Given the description of an element on the screen output the (x, y) to click on. 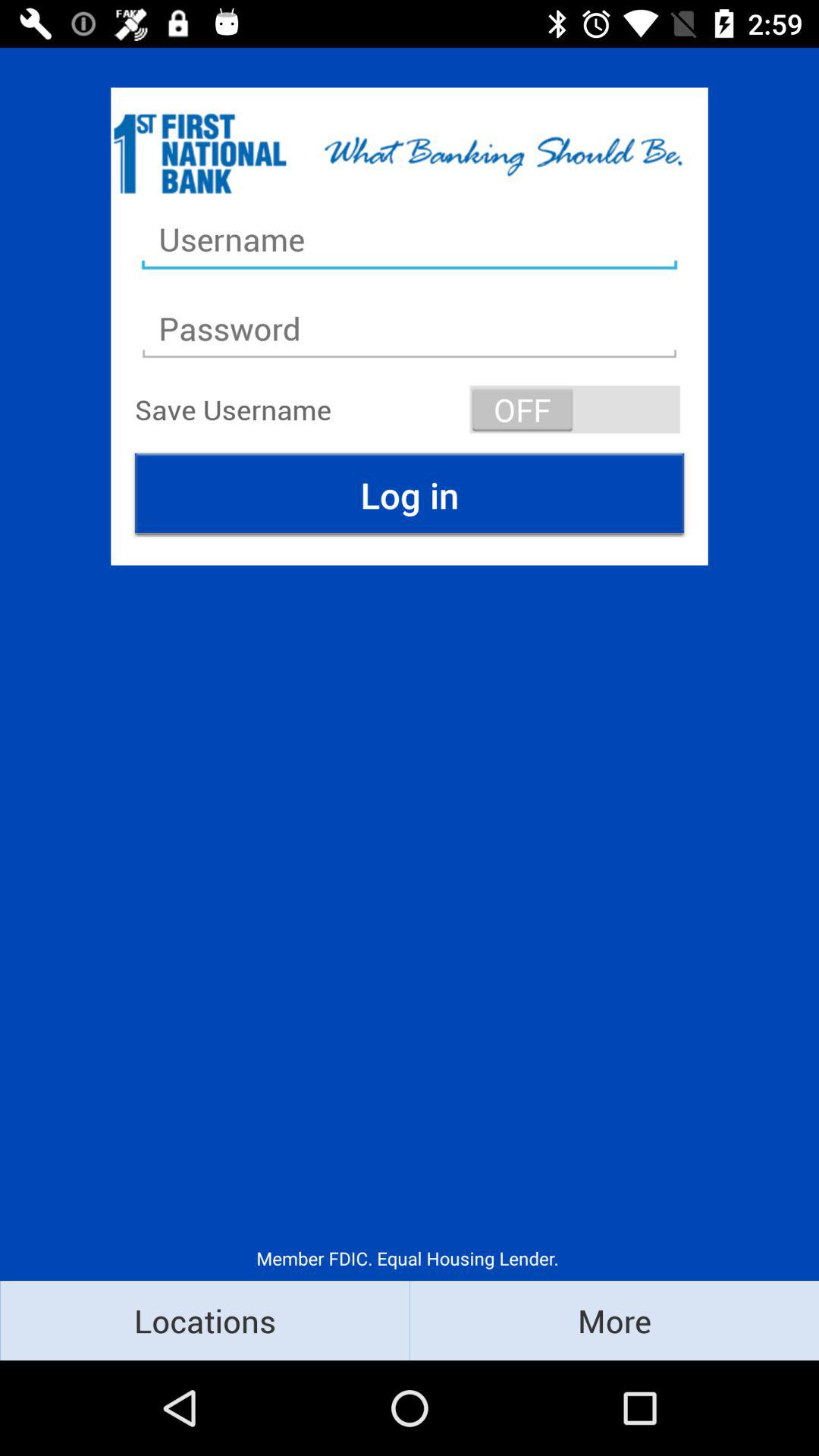
launch item next to locations item (614, 1320)
